Given the description of an element on the screen output the (x, y) to click on. 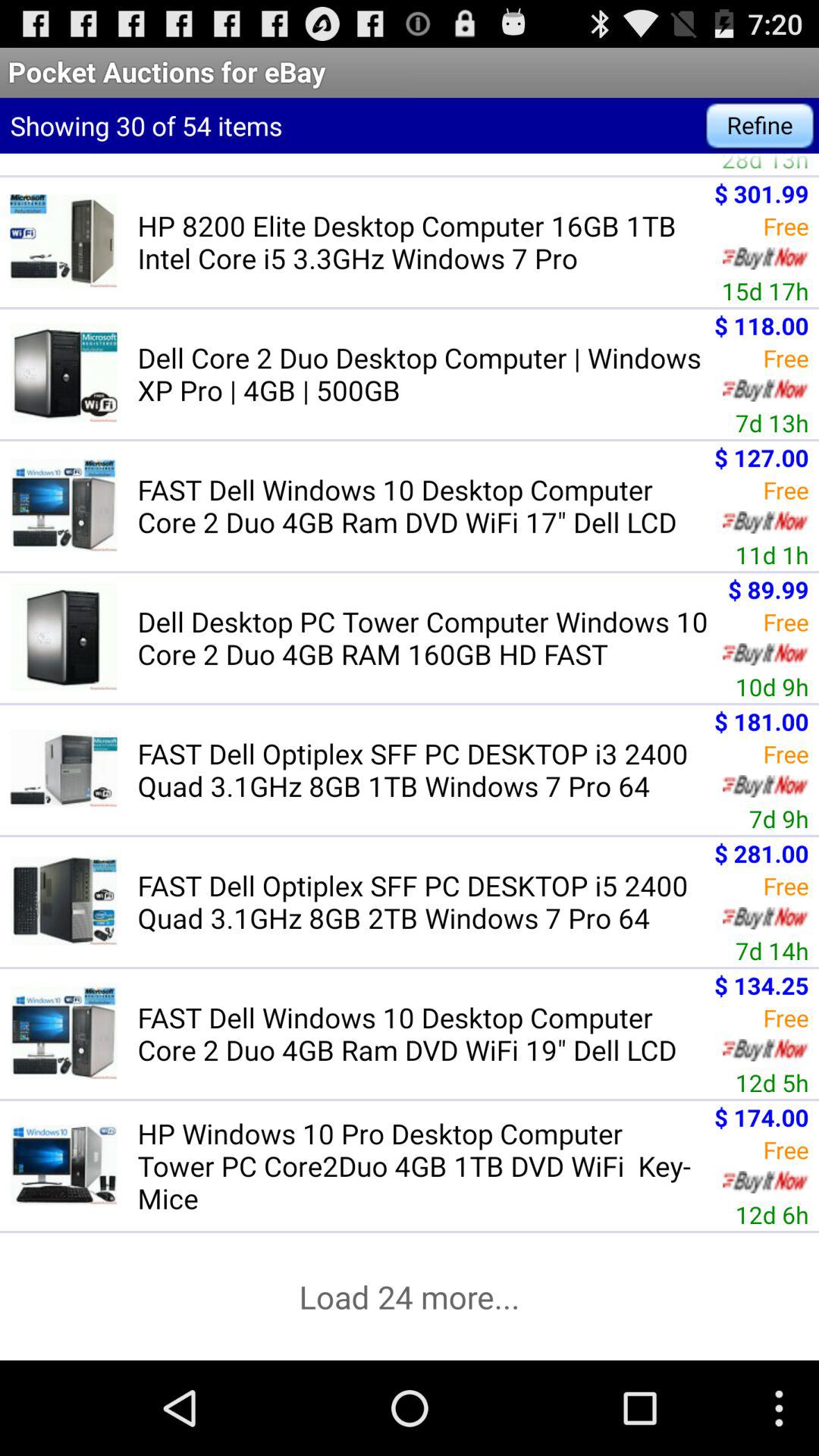
select 12d 6h (771, 1214)
